Given the description of an element on the screen output the (x, y) to click on. 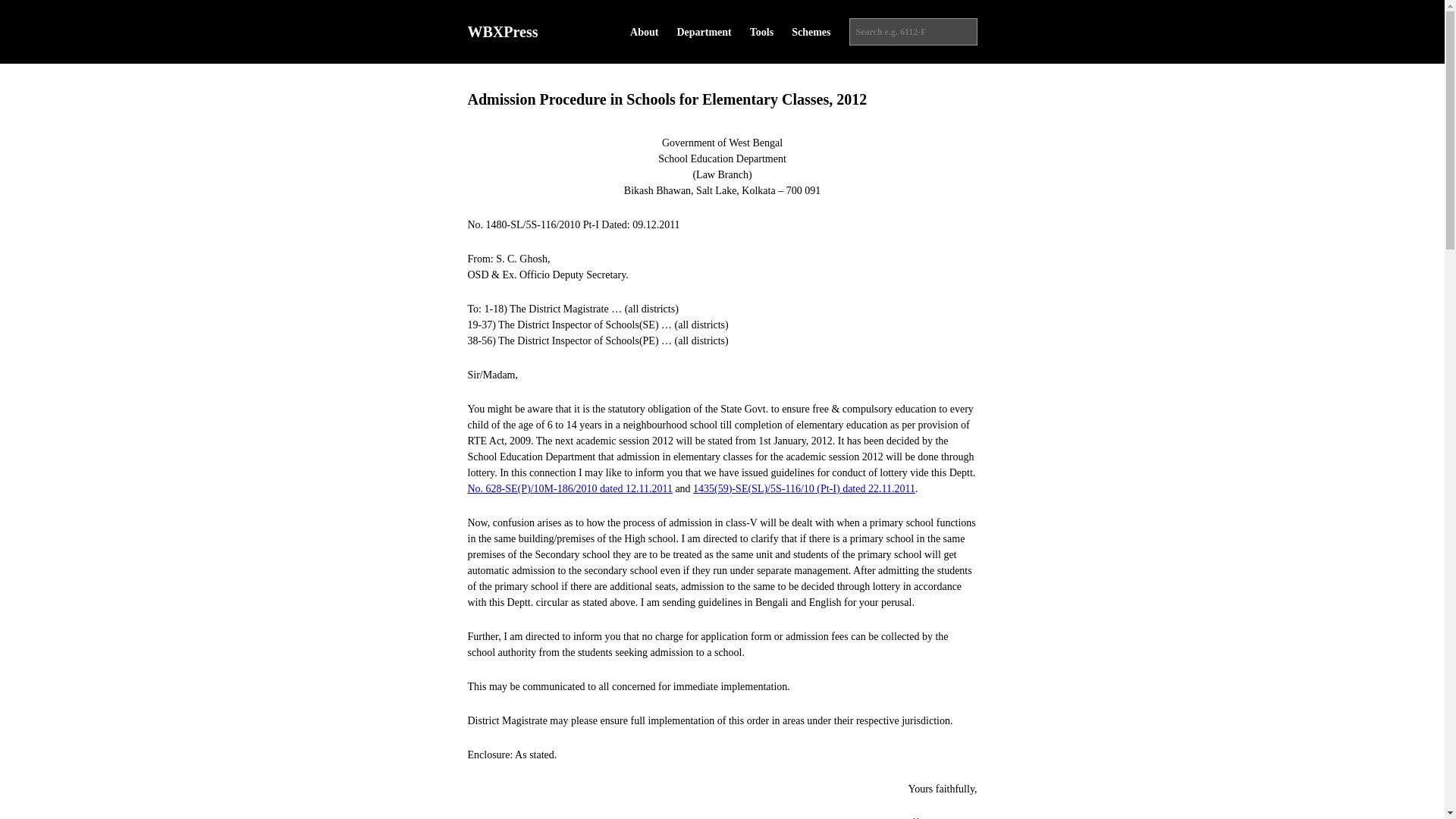
Department (703, 32)
WBXPress (502, 31)
Tools (761, 32)
Schemes (810, 32)
About (644, 32)
